Given the description of an element on the screen output the (x, y) to click on. 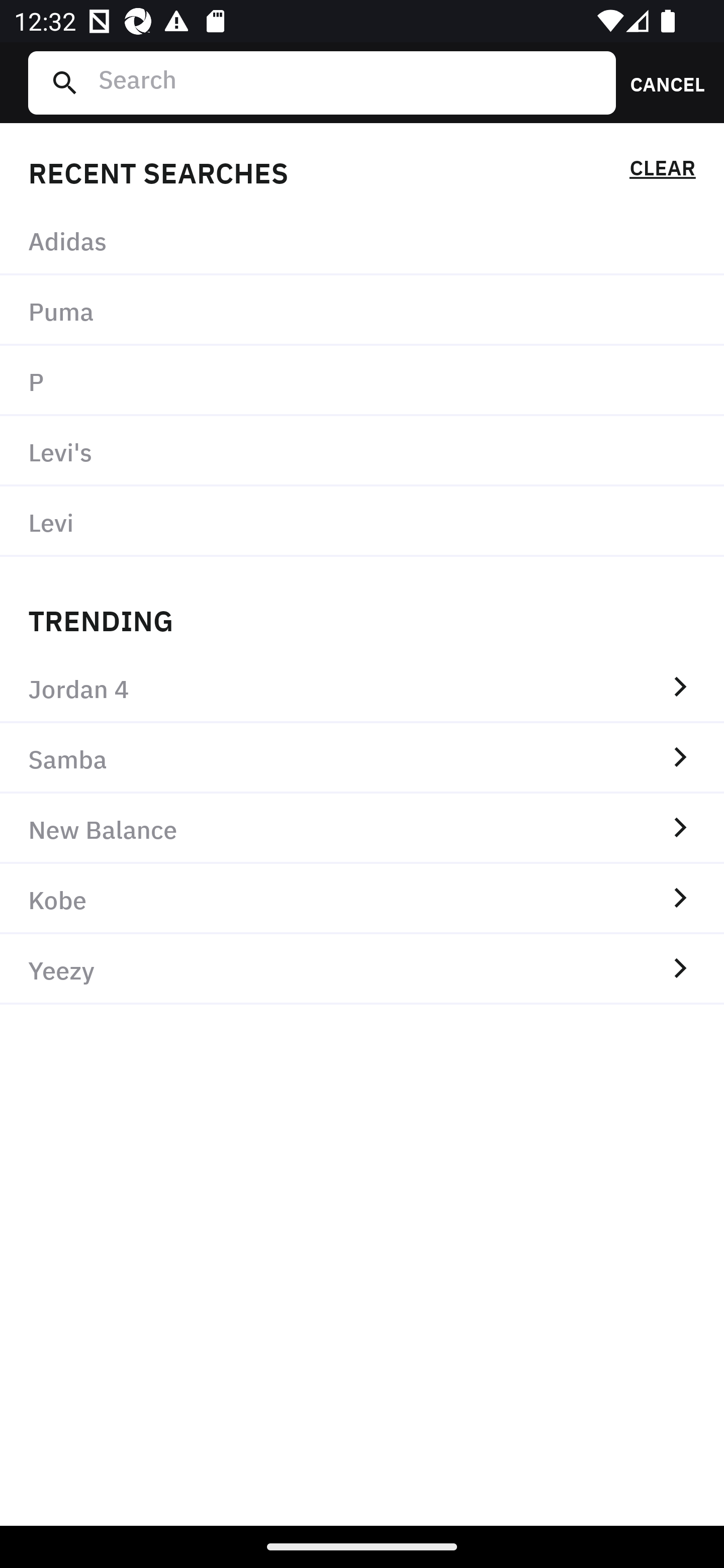
CANCEL (660, 82)
Search (349, 82)
CLEAR (662, 170)
Adidas (362, 240)
Puma (362, 310)
P (362, 380)
Levi's (362, 450)
Levi (362, 521)
Jordan 4  (362, 687)
Samba  (362, 757)
New Balance  (362, 828)
Kobe  (362, 898)
Yeezy  (362, 969)
